Given the description of an element on the screen output the (x, y) to click on. 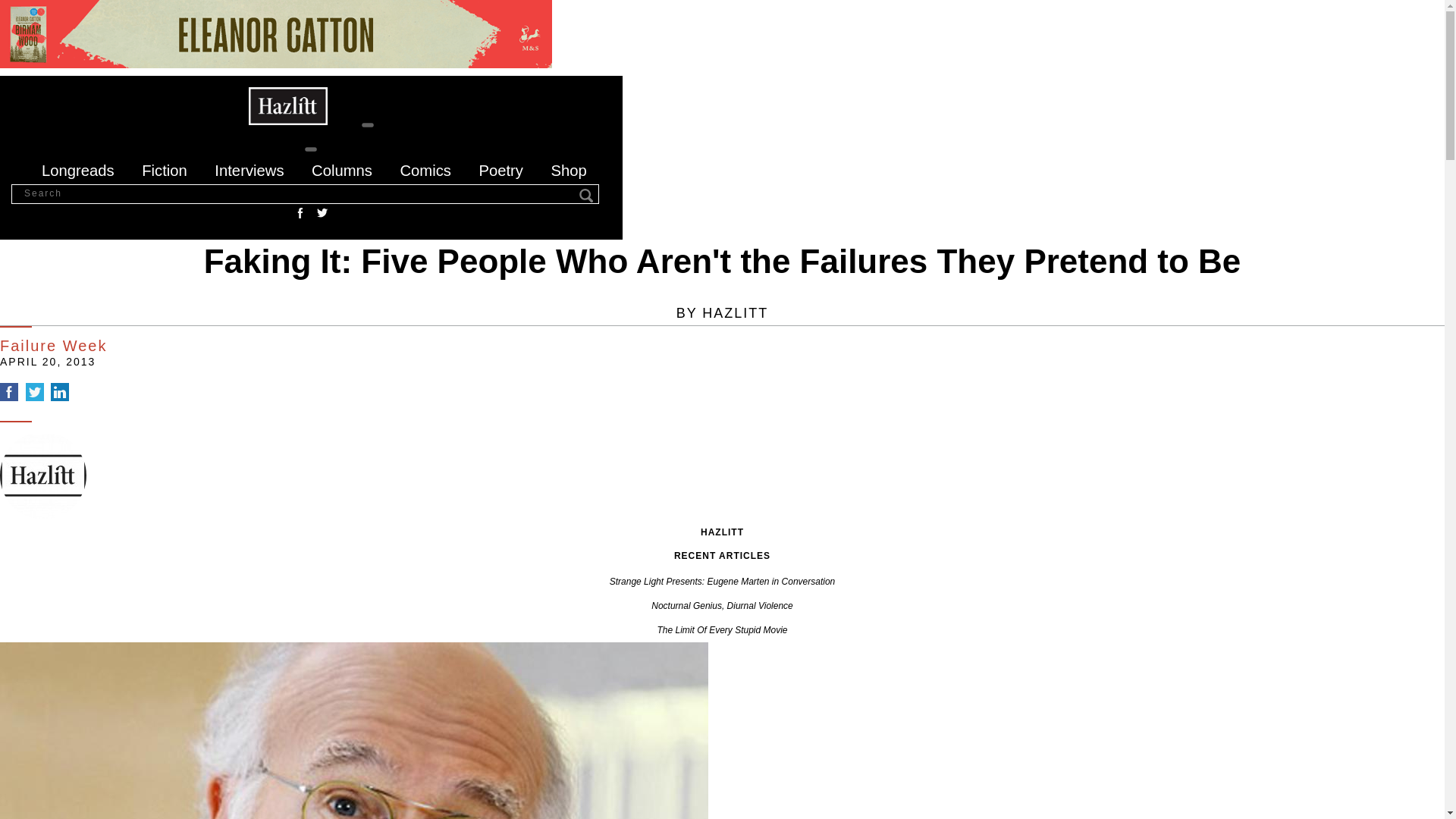
Twitter (34, 392)
Search (586, 196)
HAZLITT (734, 313)
Facebook (299, 212)
Nocturnal Genius, Diurnal Violence (721, 605)
HAZLITT (722, 532)
Search (586, 196)
Facebook (8, 392)
The Limit Of Every Stupid Movie (721, 629)
Twitter (322, 212)
Poetry (500, 170)
LinkedIn (59, 392)
Interviews (248, 170)
Longreads (78, 170)
Shop (568, 170)
